Given the description of an element on the screen output the (x, y) to click on. 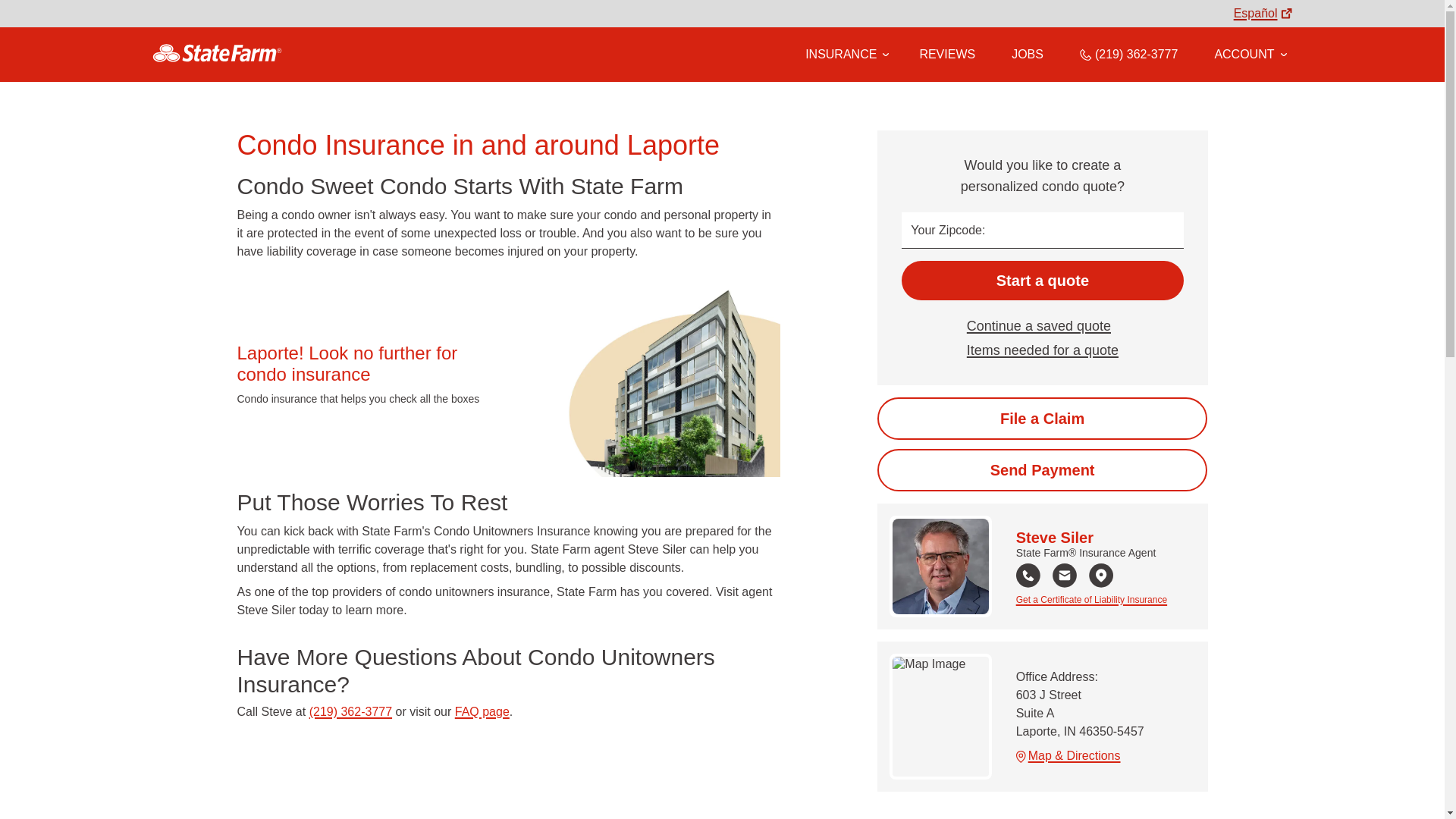
REVIEWS (946, 54)
Account Options (1250, 54)
Start the claim process online (1042, 418)
ACCOUNT (1250, 54)
JOBS (1027, 54)
Insurance (844, 54)
INSURANCE (840, 54)
